Given the description of an element on the screen output the (x, y) to click on. 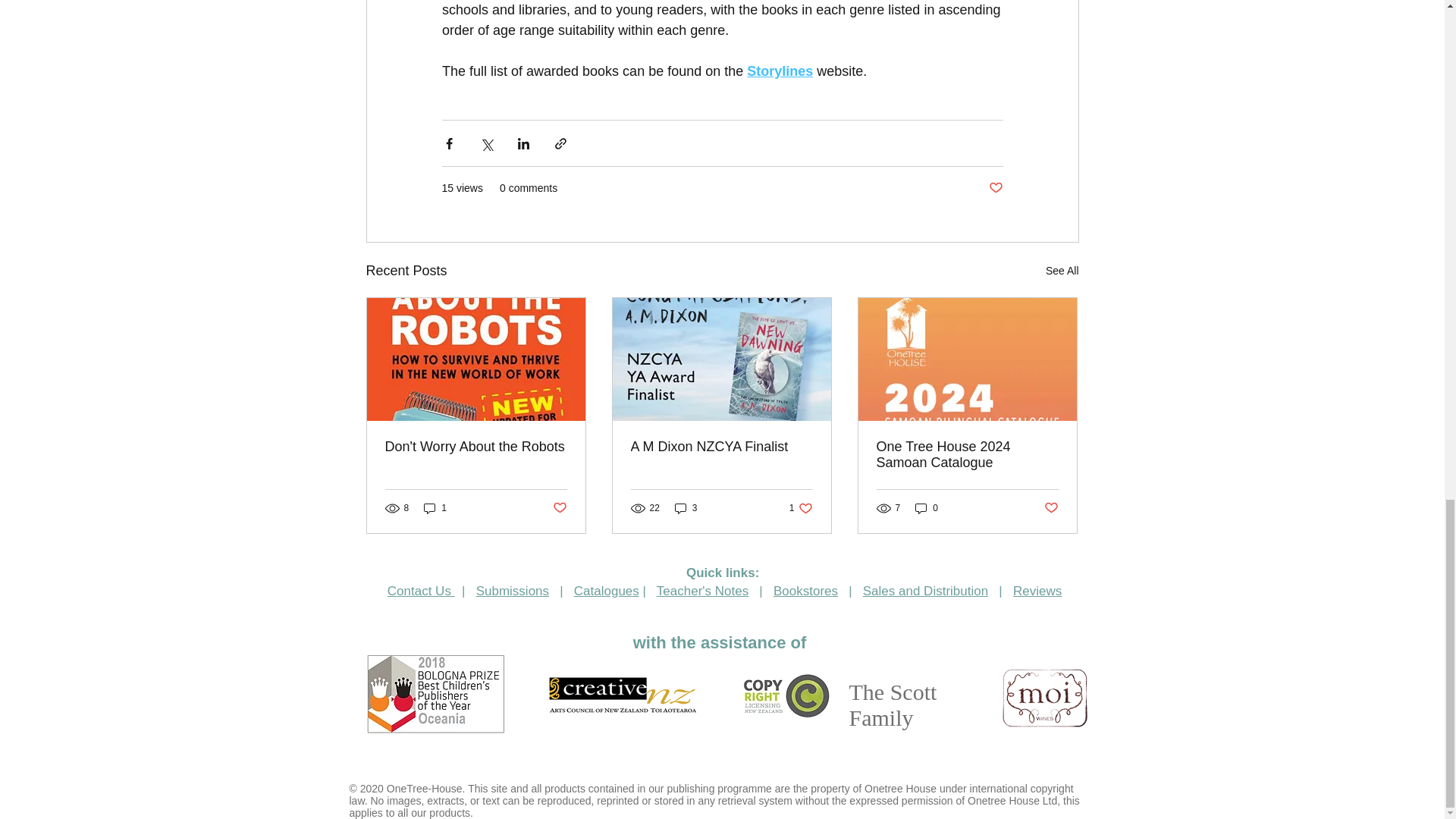
3 (685, 508)
Post not marked as liked (800, 508)
0 (558, 507)
Post not marked as liked (926, 508)
A M Dixon NZCYA Finalist (1050, 507)
Don't Worry About the Robots (721, 446)
1 (476, 446)
One Tree House 2024 Samoan Catalogue (435, 508)
See All (967, 454)
